Given the description of an element on the screen output the (x, y) to click on. 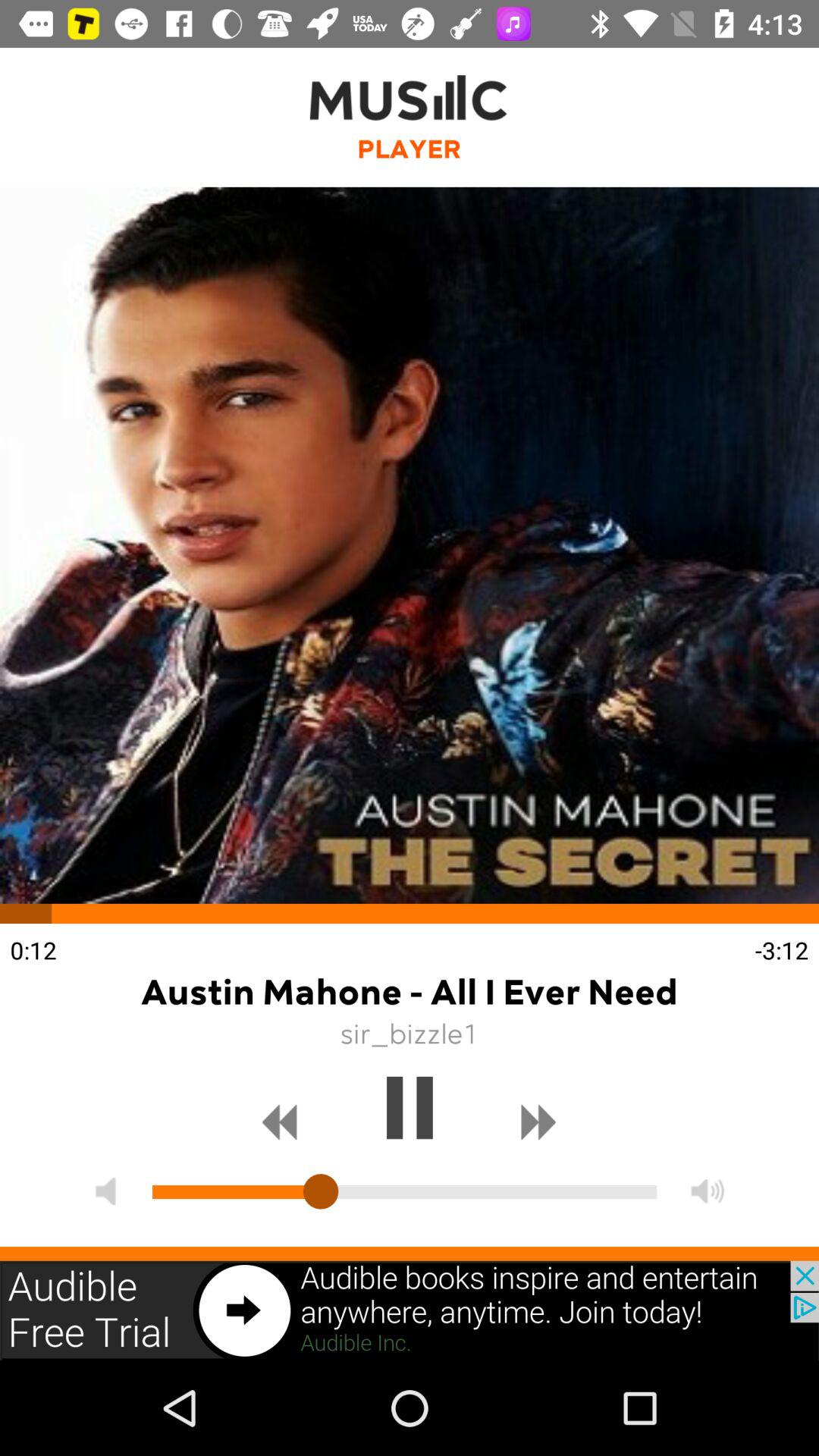
previous song option (280, 1122)
